Given the description of an element on the screen output the (x, y) to click on. 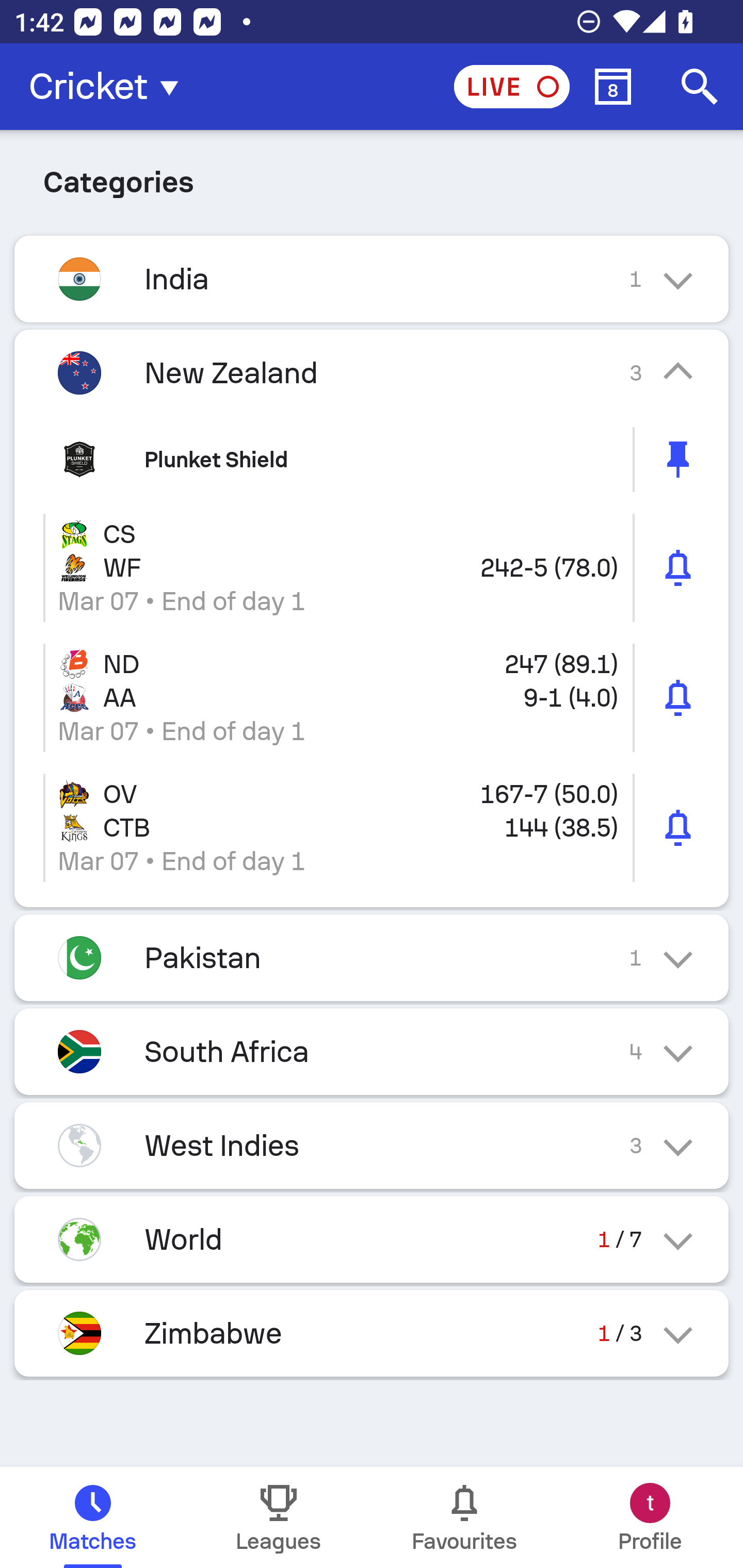
Cricket (109, 86)
Calendar (612, 86)
Search (699, 86)
Categories (371, 179)
India 1 (371, 279)
New Zealand 3 (371, 372)
Plunket Shield (371, 459)
CS WF 242-5 (78.0) Mar 07 • End of day 1 (371, 568)
ND 247 (89.1) AA 9-1 (4.0) Mar 07 • End of day 1 (371, 698)
Pakistan 1 (371, 957)
South Africa 4 (371, 1051)
West Indies 3 (371, 1145)
World 1 / 7 (371, 1239)
Zimbabwe 1 / 3 (371, 1333)
Leagues (278, 1517)
Favourites (464, 1517)
Profile (650, 1517)
